Given the description of an element on the screen output the (x, y) to click on. 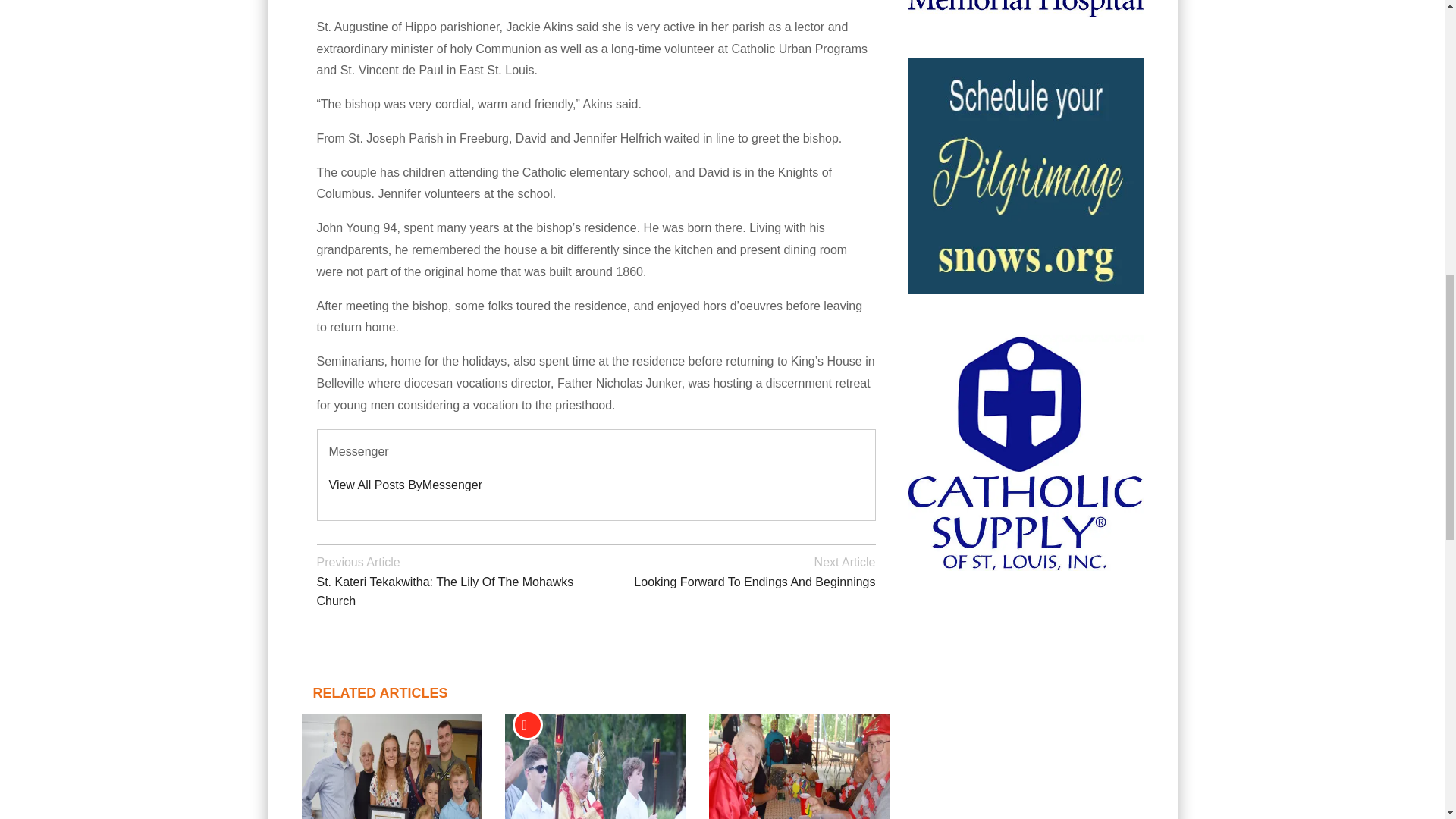
View All Posts ByMessenger (405, 484)
